Given the description of an element on the screen output the (x, y) to click on. 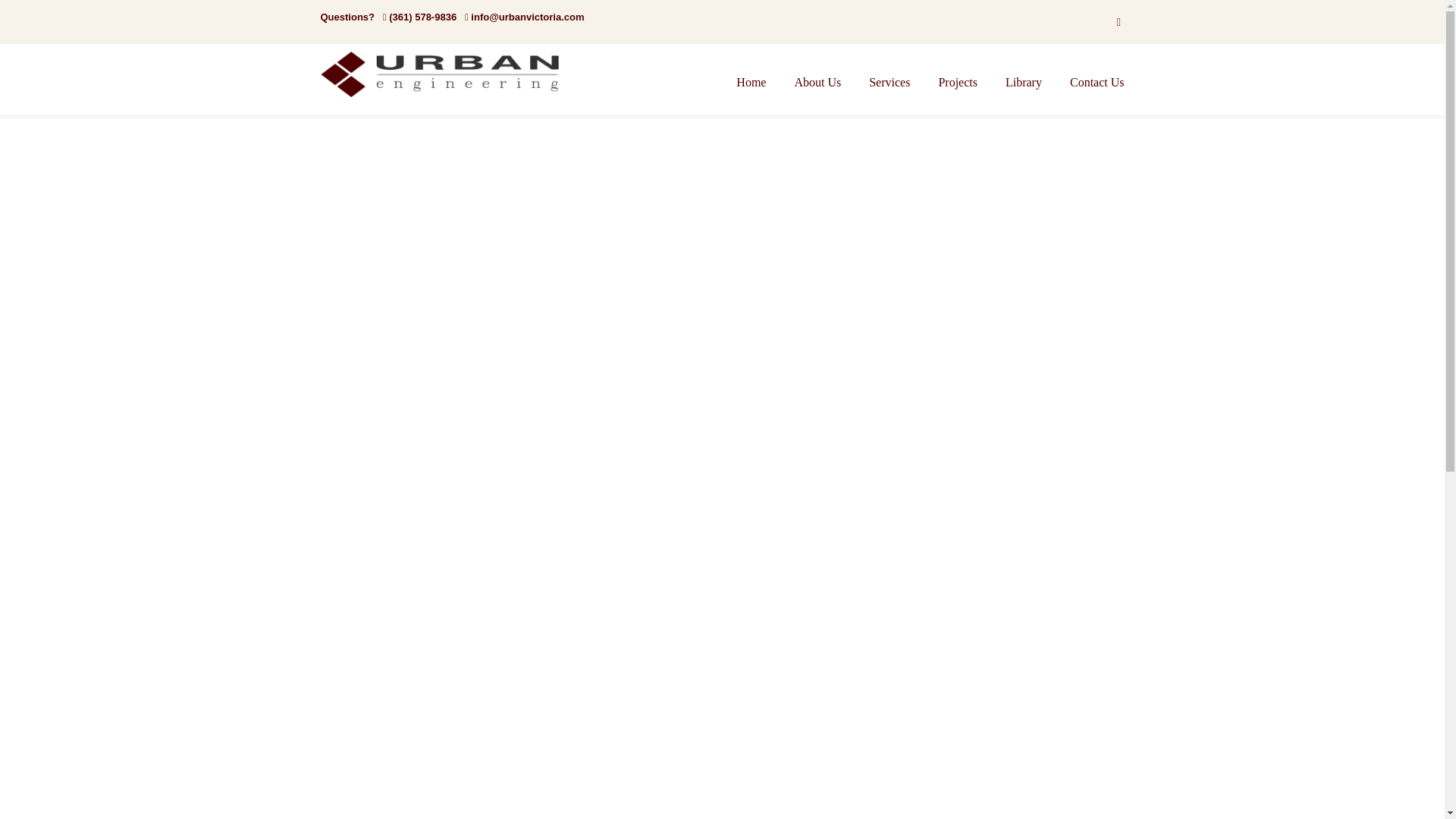
Services (888, 82)
Urban Engineering (449, 74)
Library (1023, 82)
Home (750, 82)
Urban Engineering (449, 74)
About Us (817, 82)
Projects (957, 82)
Contact Us (1097, 82)
